Given the description of an element on the screen output the (x, y) to click on. 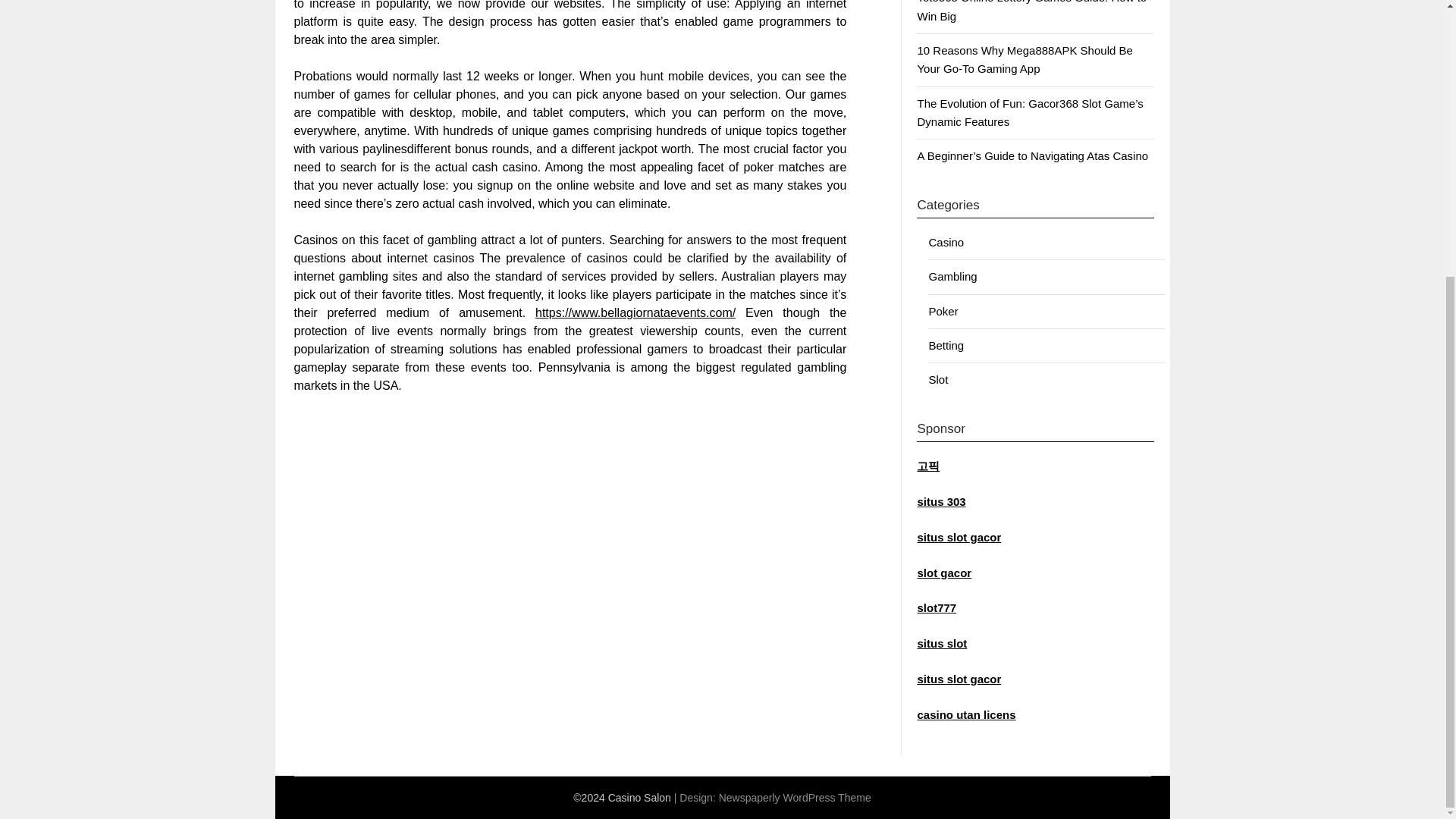
slot777 (936, 607)
situs slot gacor (959, 678)
10 Reasons Why Mega888APK Should Be Your Go-To Gaming App (1024, 59)
situs slot (941, 643)
Poker (943, 310)
slot gacor (944, 572)
Newspaperly WordPress Theme (794, 797)
situs 303 (941, 501)
Casino (945, 241)
Toto368 Online Lottery Games Guide: How to Win Big (1032, 11)
